Given the description of an element on the screen output the (x, y) to click on. 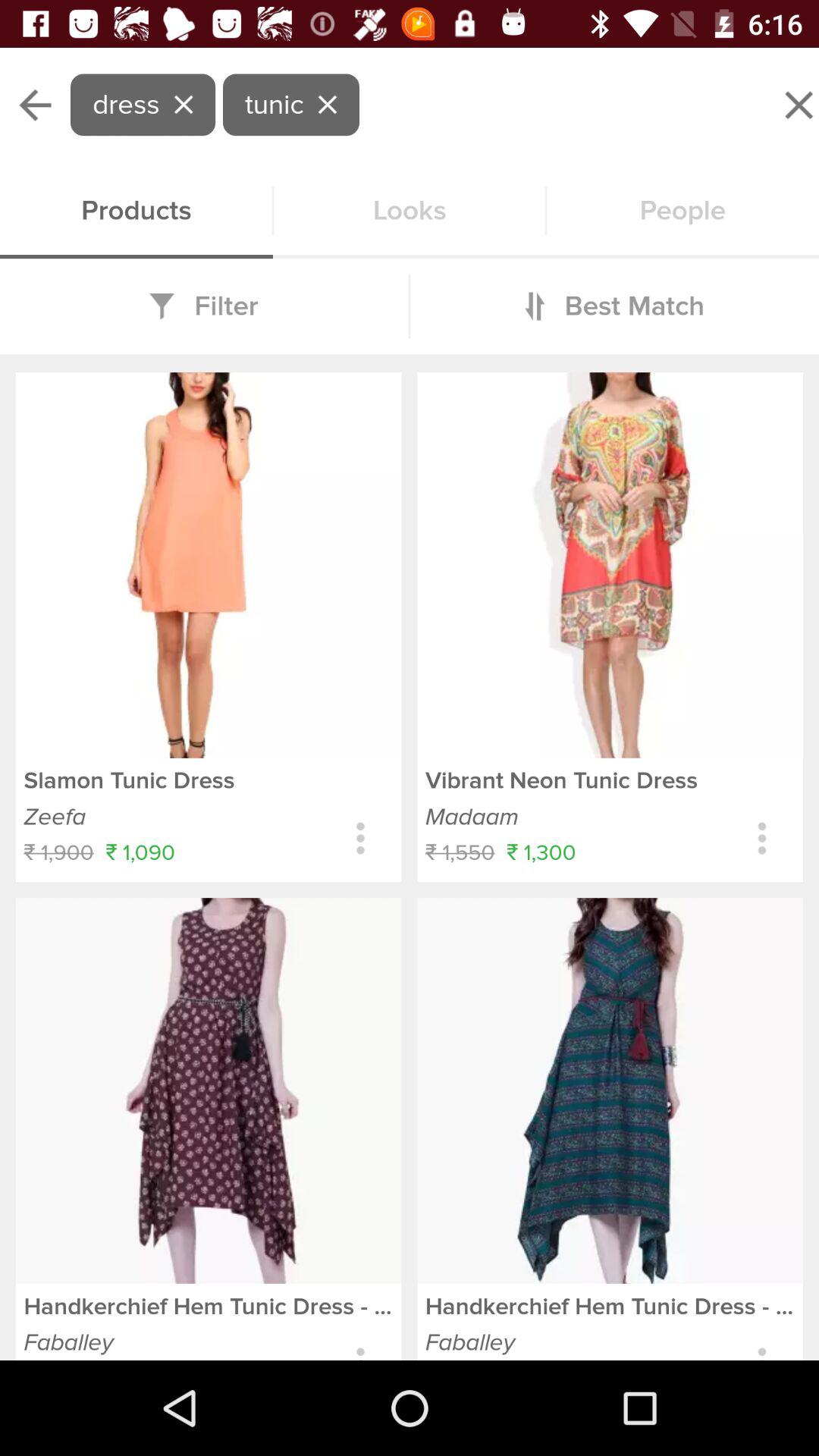
get more details (762, 838)
